Given the description of an element on the screen output the (x, y) to click on. 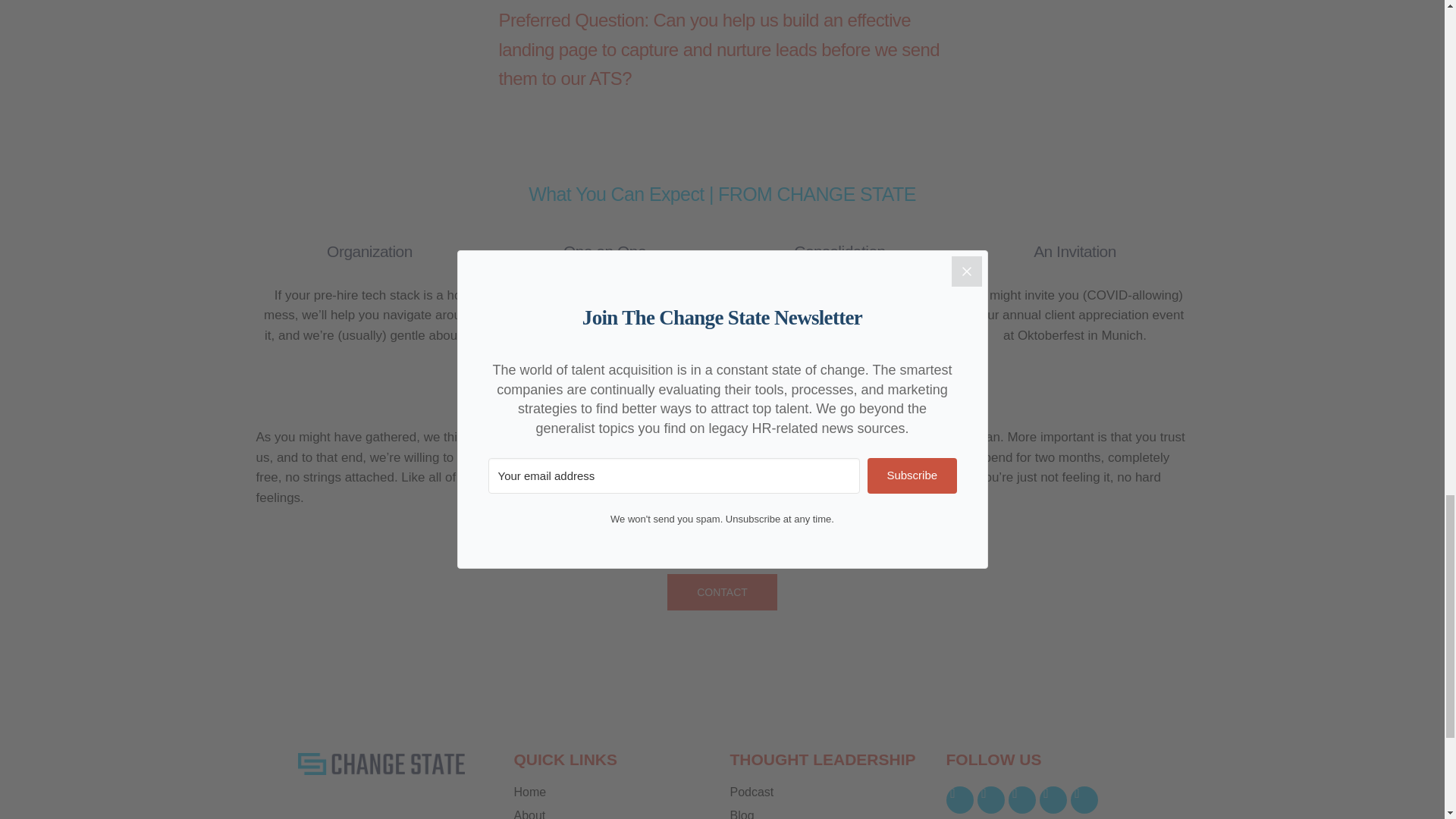
CONTACT (721, 592)
Podcast (829, 792)
Home (613, 792)
About (613, 814)
Blog (829, 814)
